Given the description of an element on the screen output the (x, y) to click on. 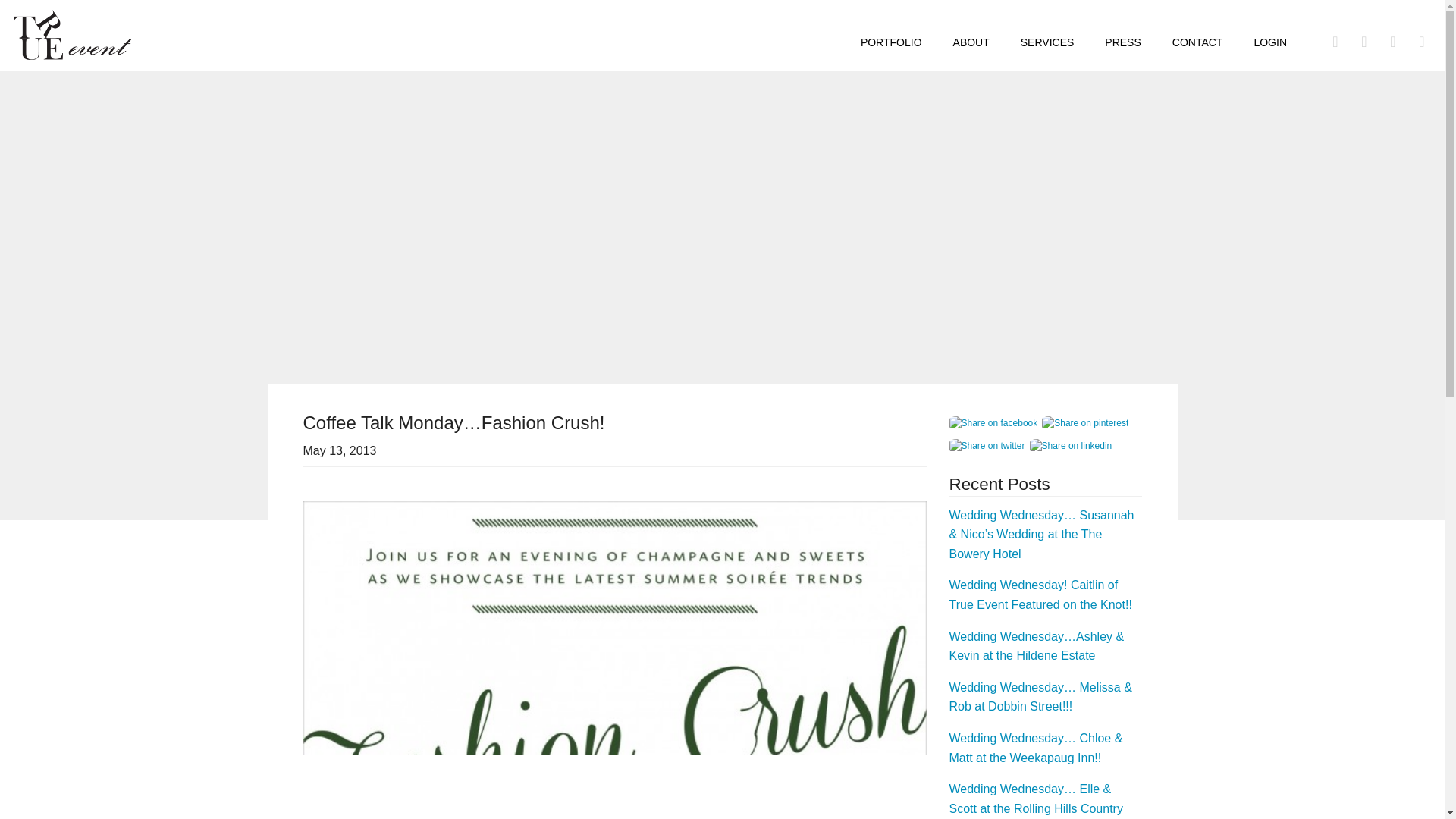
pinterest (1087, 422)
PRESS (1123, 41)
PORTFOLIO (891, 41)
twitter (989, 445)
SERVICES (1047, 41)
facebook (995, 422)
ABOUT (971, 41)
LOGIN (1269, 41)
linkedin (1072, 445)
